Given the description of an element on the screen output the (x, y) to click on. 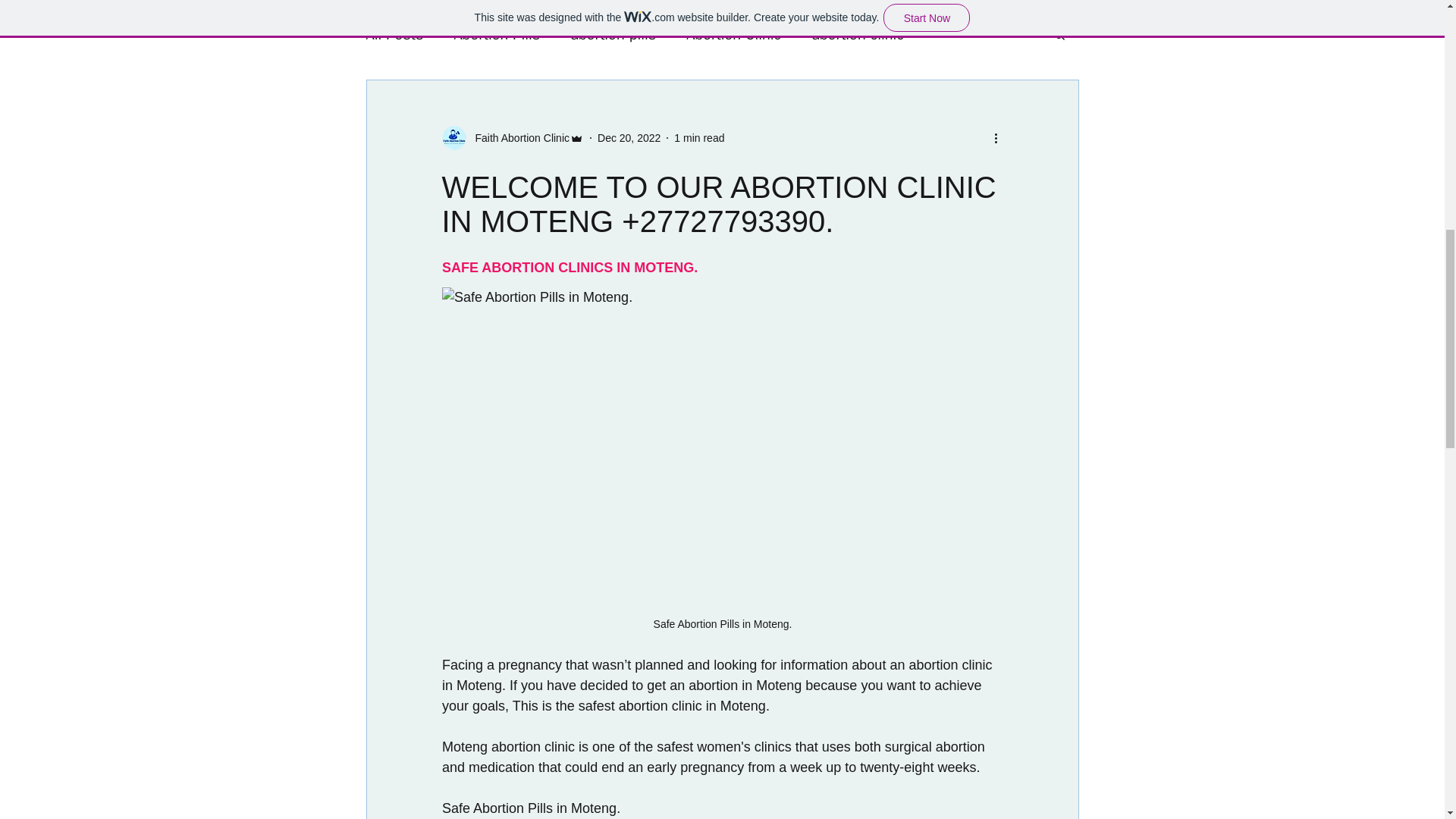
1 min read (698, 137)
Dec 20, 2022 (628, 137)
Faith Abortion Clinic (517, 138)
